Given the description of an element on the screen output the (x, y) to click on. 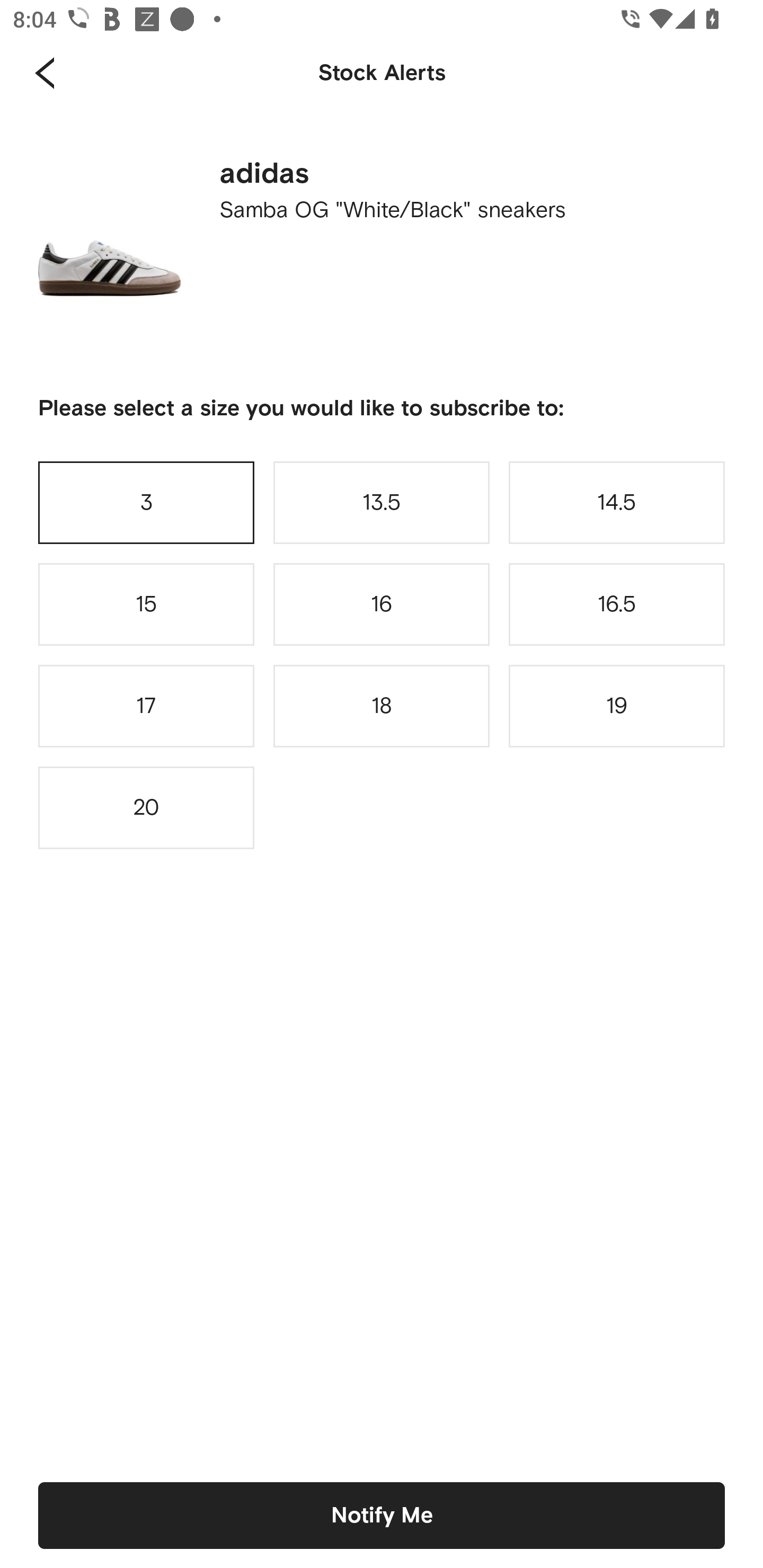
3 (146, 502)
13.5 (381, 502)
14.5 (616, 502)
15 (146, 604)
16 (381, 604)
16.5 (616, 604)
17 (146, 705)
18 (381, 705)
19 (616, 705)
20 (146, 807)
Notify Me (381, 1515)
